Given the description of an element on the screen output the (x, y) to click on. 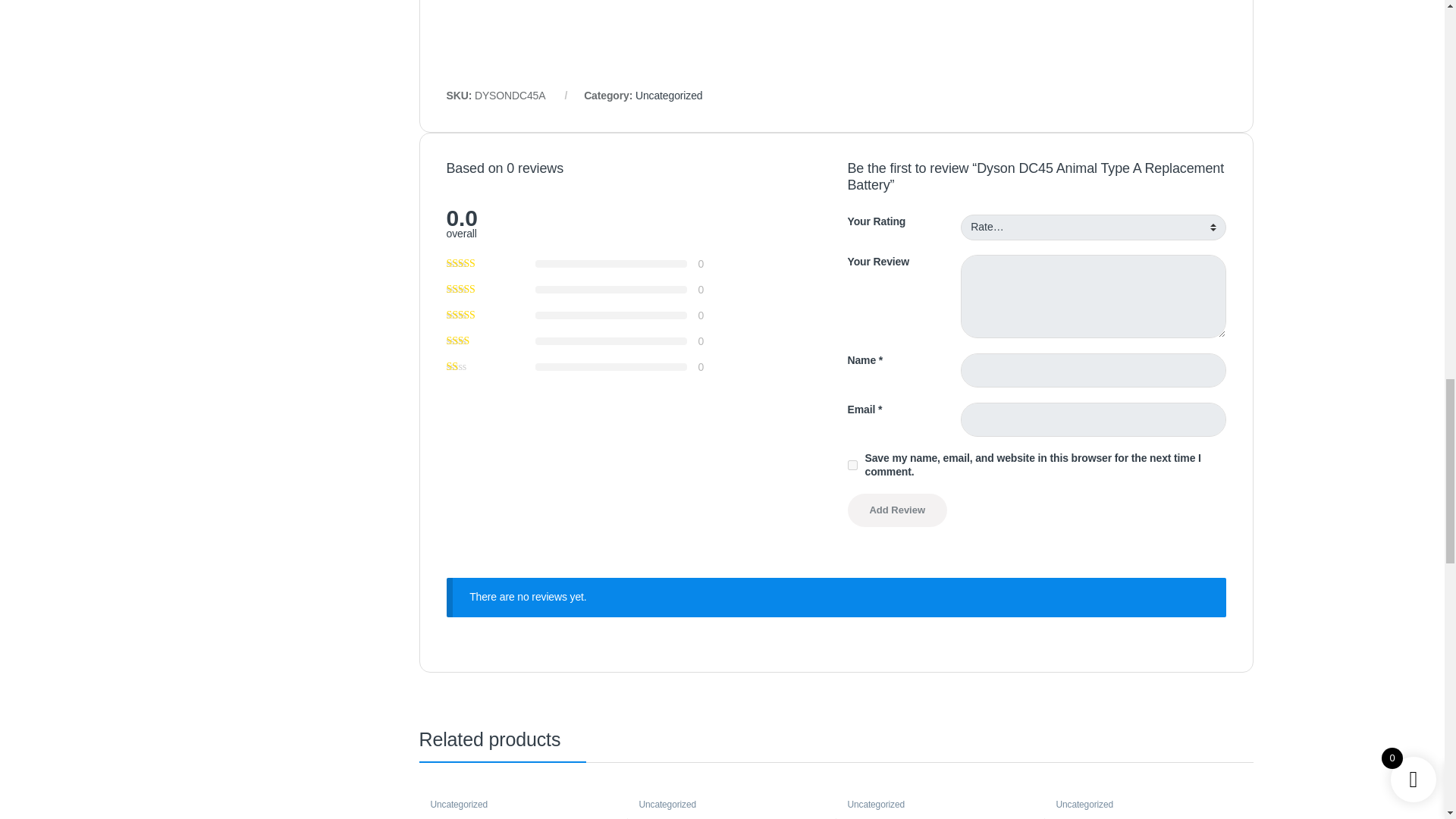
yes (852, 465)
Add Review (897, 510)
